Given the description of an element on the screen output the (x, y) to click on. 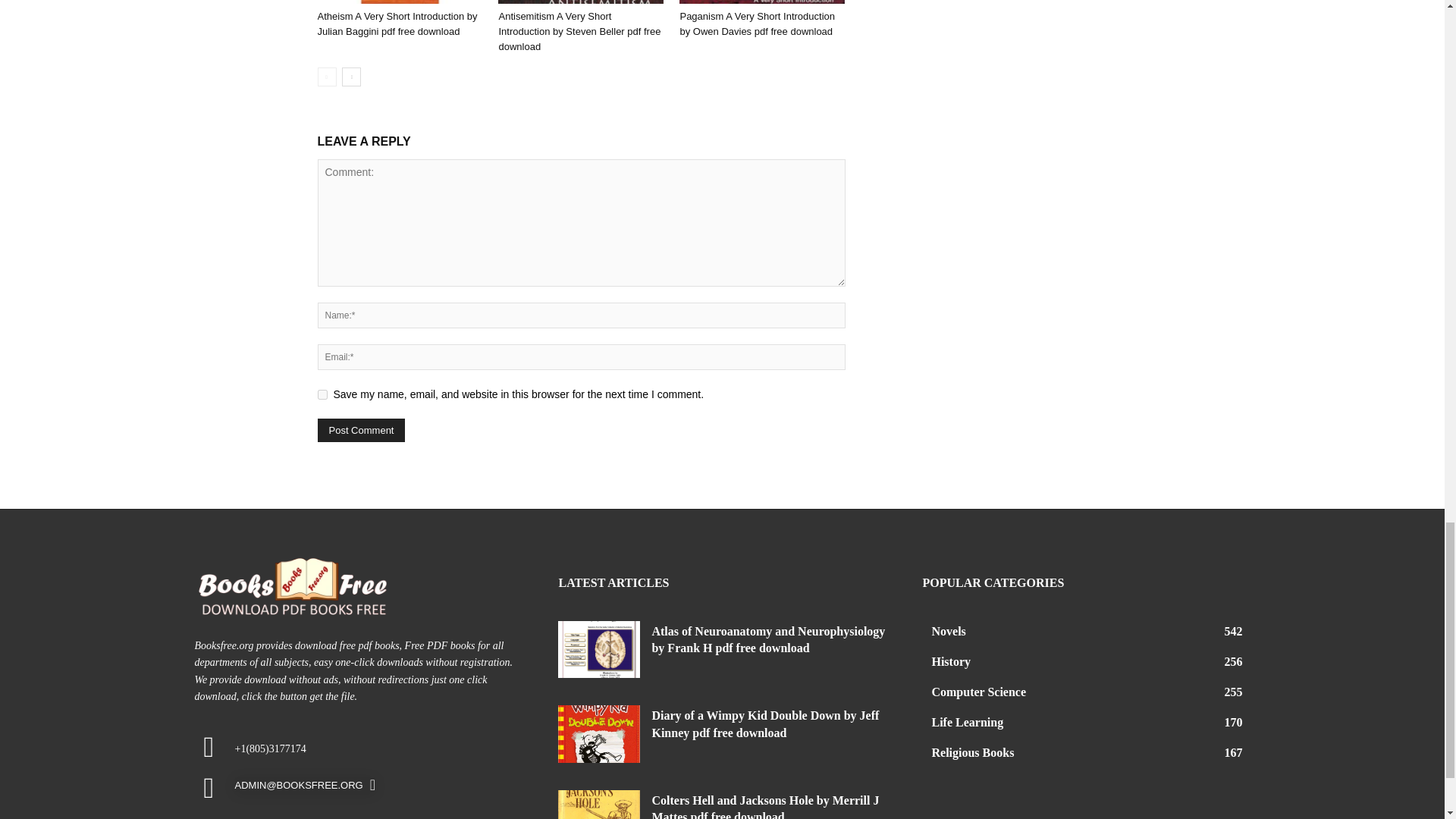
yes (321, 394)
Post Comment (360, 430)
